Given the description of an element on the screen output the (x, y) to click on. 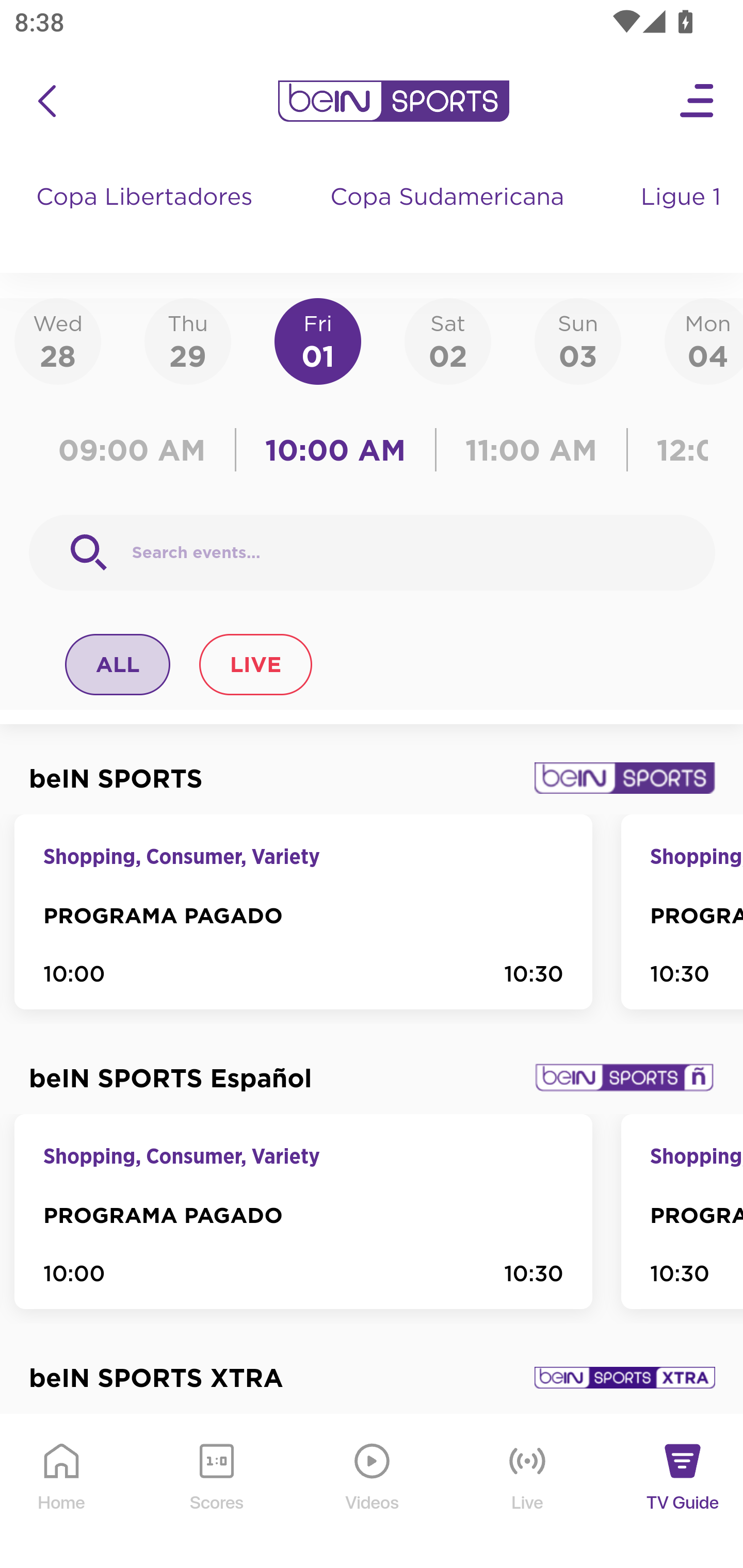
en-us?platform=mobile_android bein logo (392, 101)
icon back (46, 101)
Open Menu Icon (697, 101)
Copa Libertadores (146, 216)
Copa Sudamericana (448, 216)
Ligue 1 (682, 216)
Wed28 (58, 340)
Thu29 (187, 340)
Fri01 (318, 340)
Sat02 (447, 340)
Sun03 (578, 340)
Mon04 (703, 340)
09:00 AM (136, 449)
10:00 AM (335, 449)
11:00 AM (531, 449)
ALL (118, 663)
LIVE (255, 663)
Home Home Icon Home (61, 1491)
Scores Scores Icon Scores (216, 1491)
Videos Videos Icon Videos (372, 1491)
TV Guide TV Guide Icon TV Guide (682, 1491)
